Given the description of an element on the screen output the (x, y) to click on. 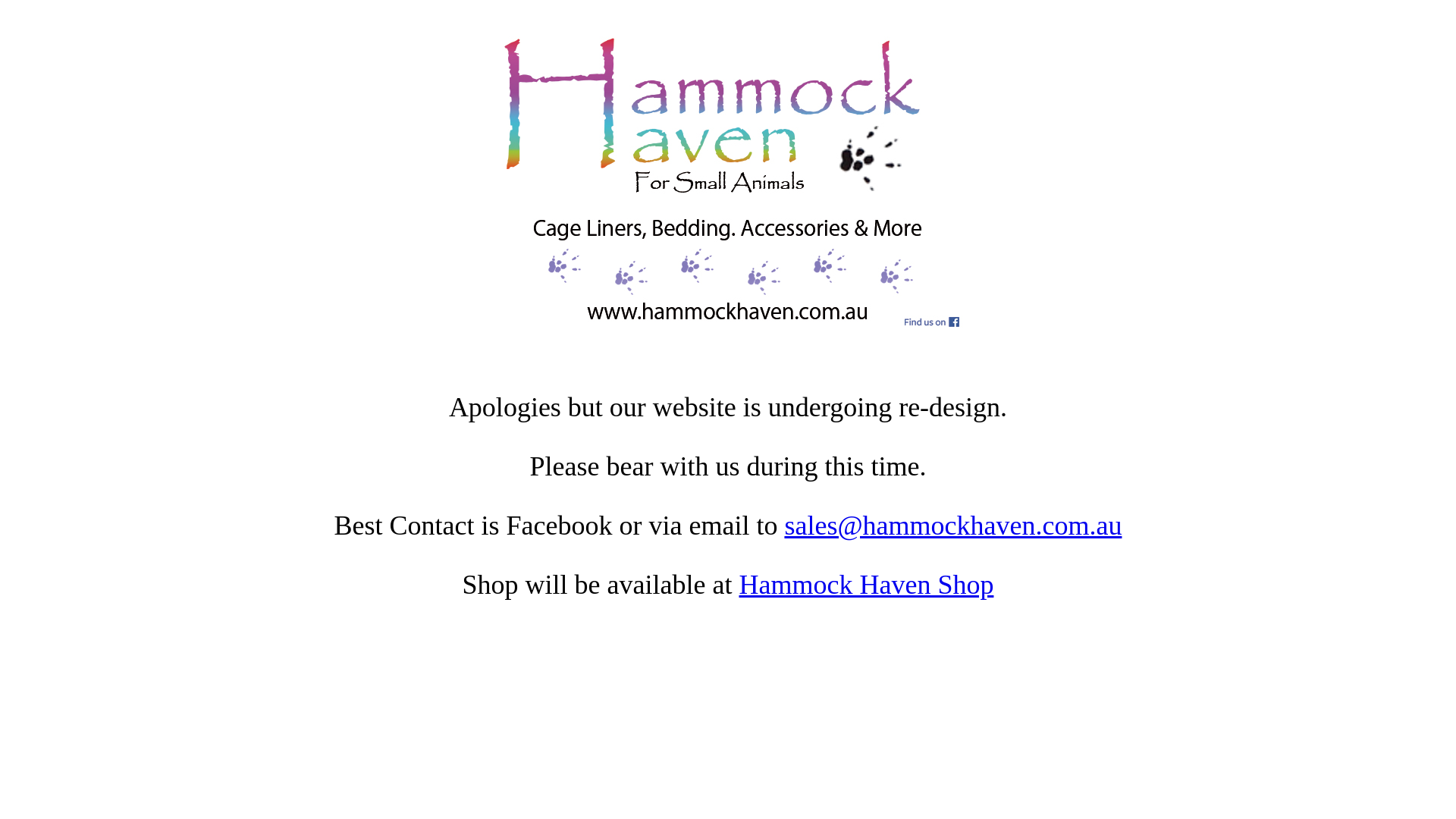
sales@hammockhaven.com.au Element type: text (952, 525)
Hammock Haven Shop Element type: text (865, 584)
